Given the description of an element on the screen output the (x, y) to click on. 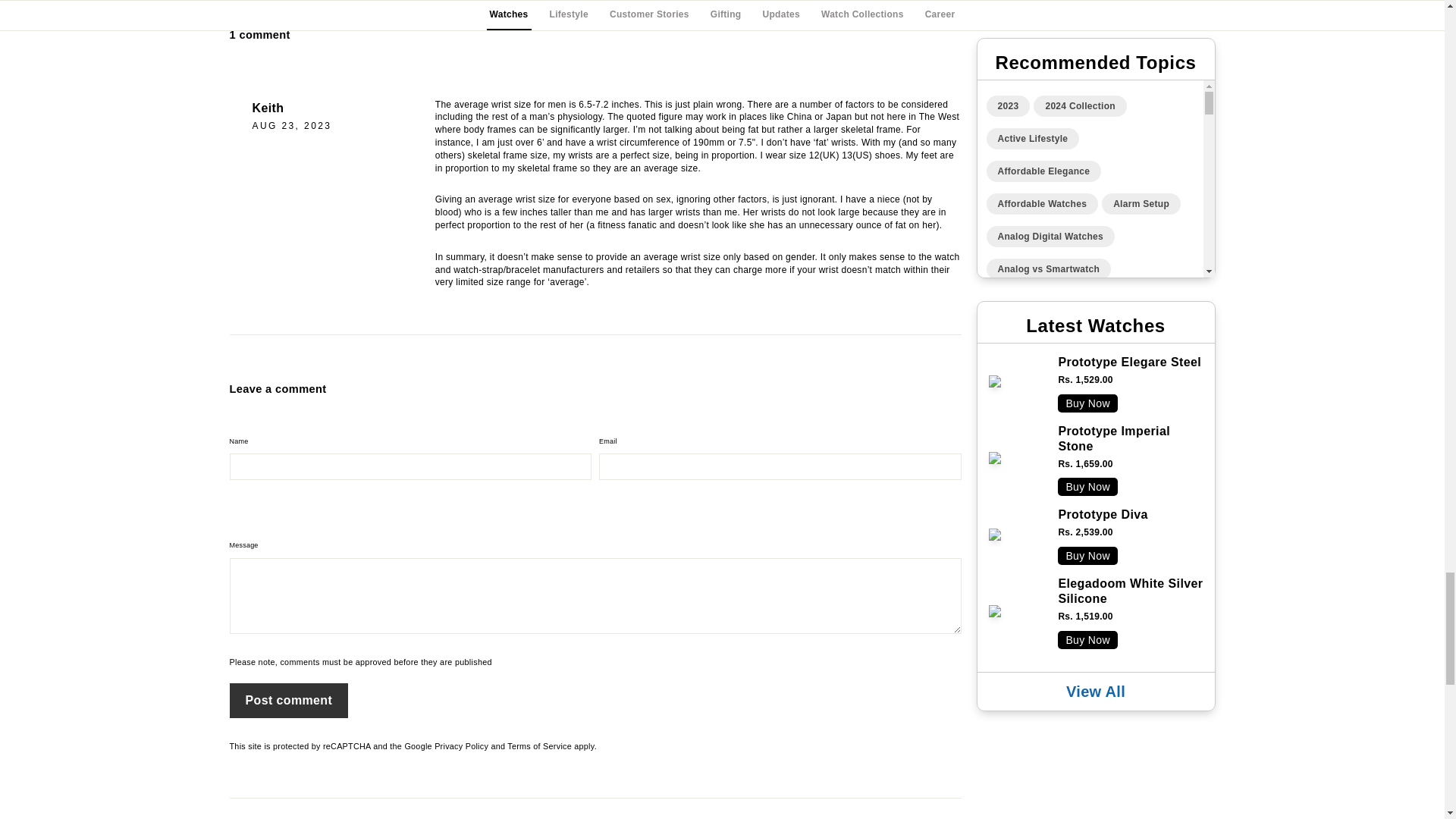
Post comment (287, 701)
